Given the description of an element on the screen output the (x, y) to click on. 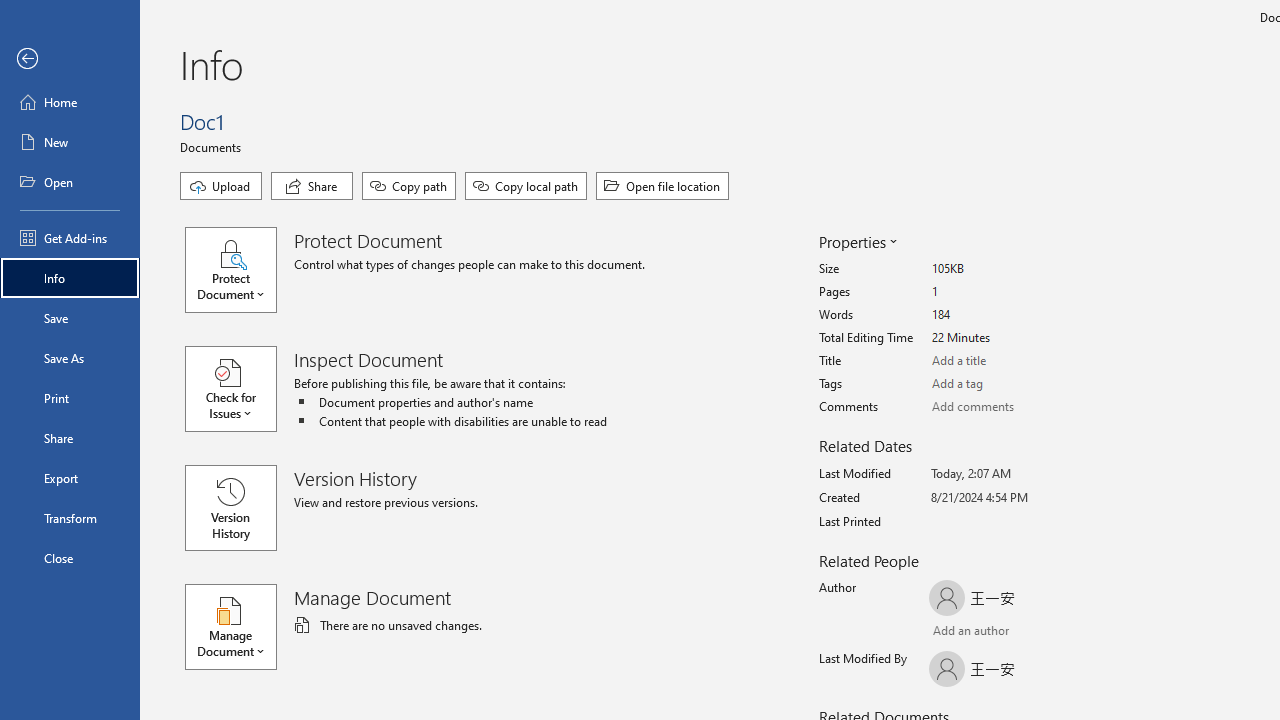
Export (69, 477)
Words (1006, 315)
Protect Document (239, 269)
Copy path (408, 186)
